Given the description of an element on the screen output the (x, y) to click on. 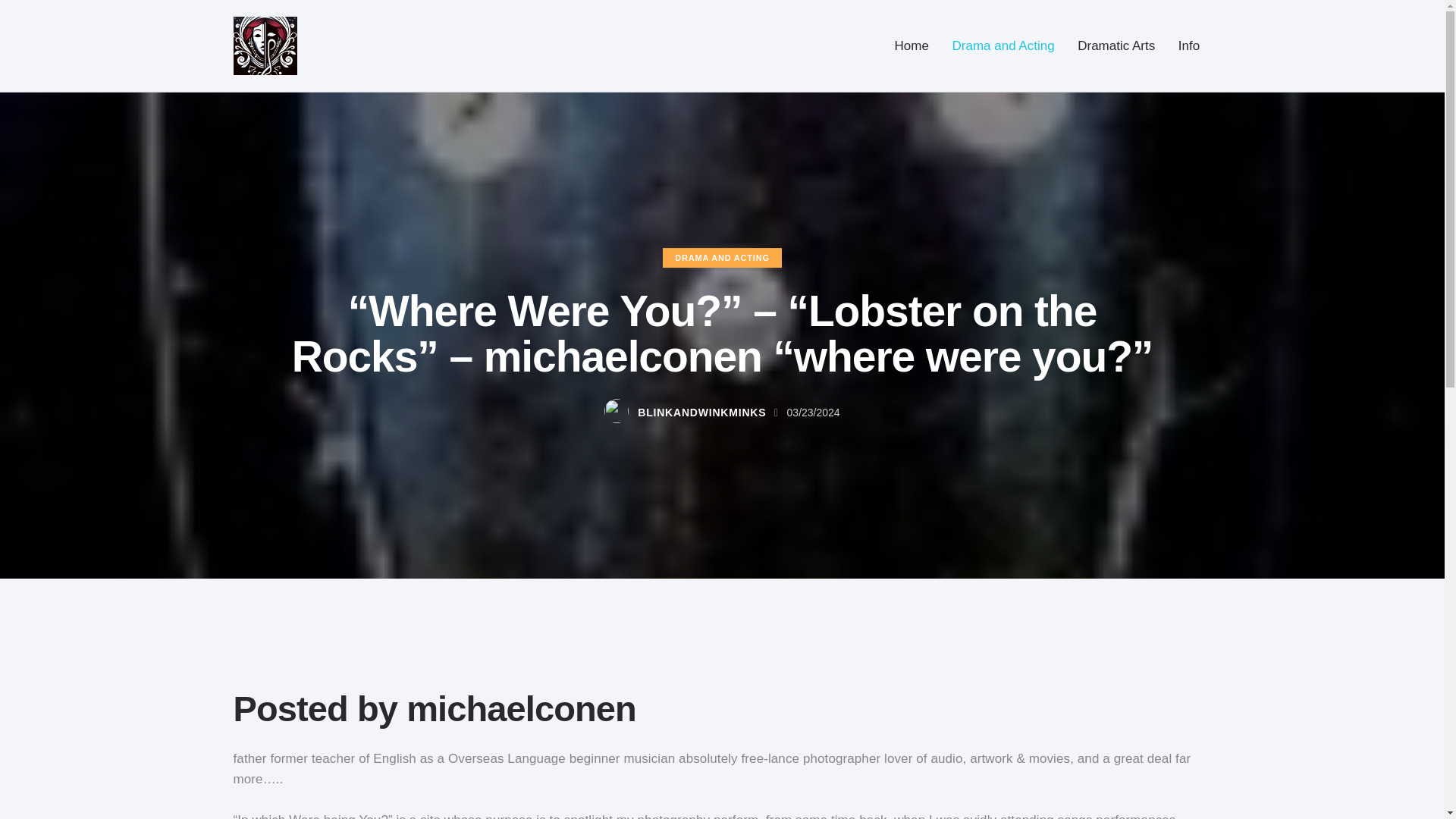
DRAMA AND ACTING (721, 257)
Drama and Acting (1002, 45)
Dramatic Arts (1116, 45)
Info (1189, 45)
Home (911, 45)
BLINKANDWINKMINKS (693, 413)
